Given the description of an element on the screen output the (x, y) to click on. 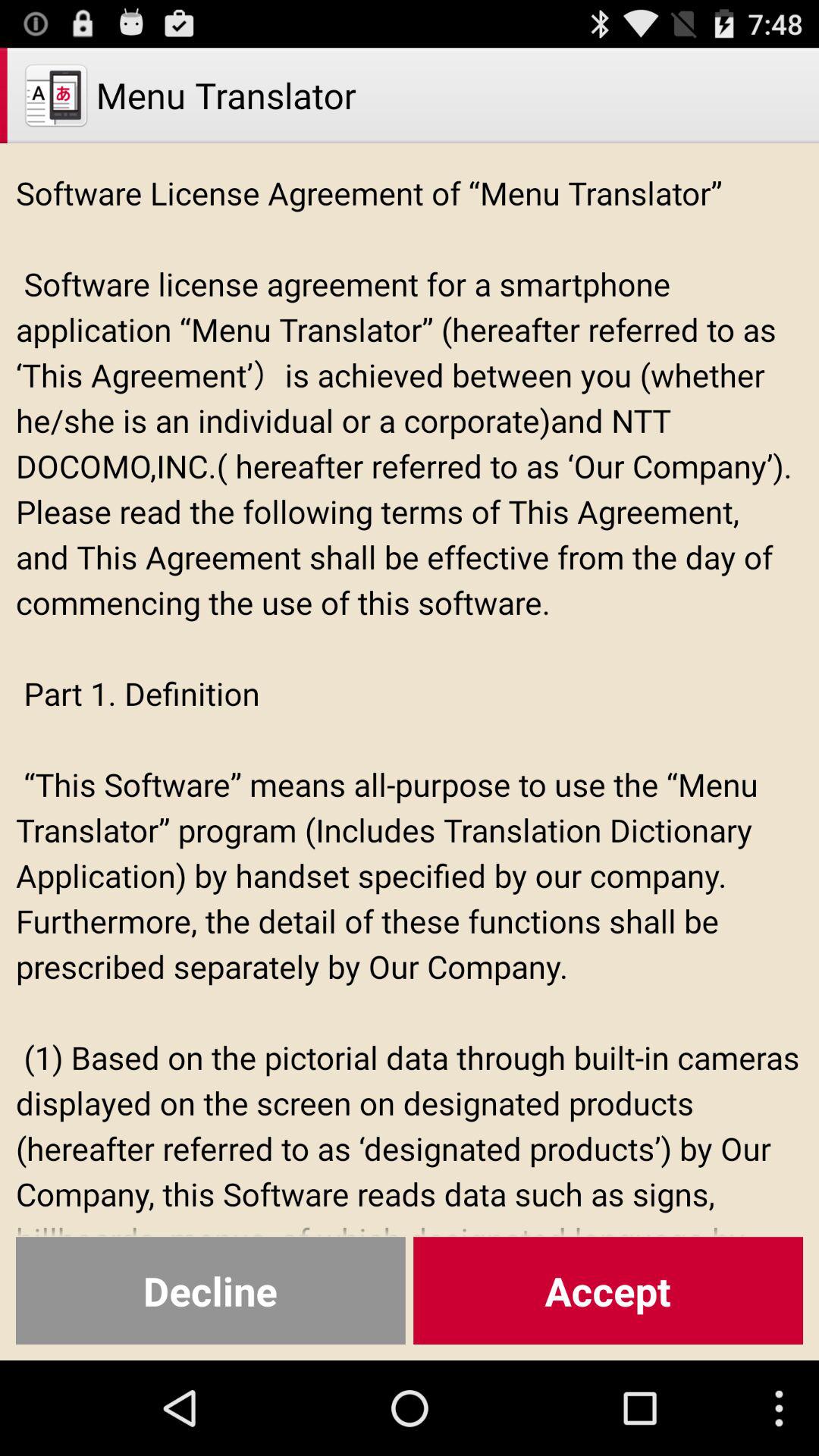
scroll until accept icon (608, 1290)
